Given the description of an element on the screen output the (x, y) to click on. 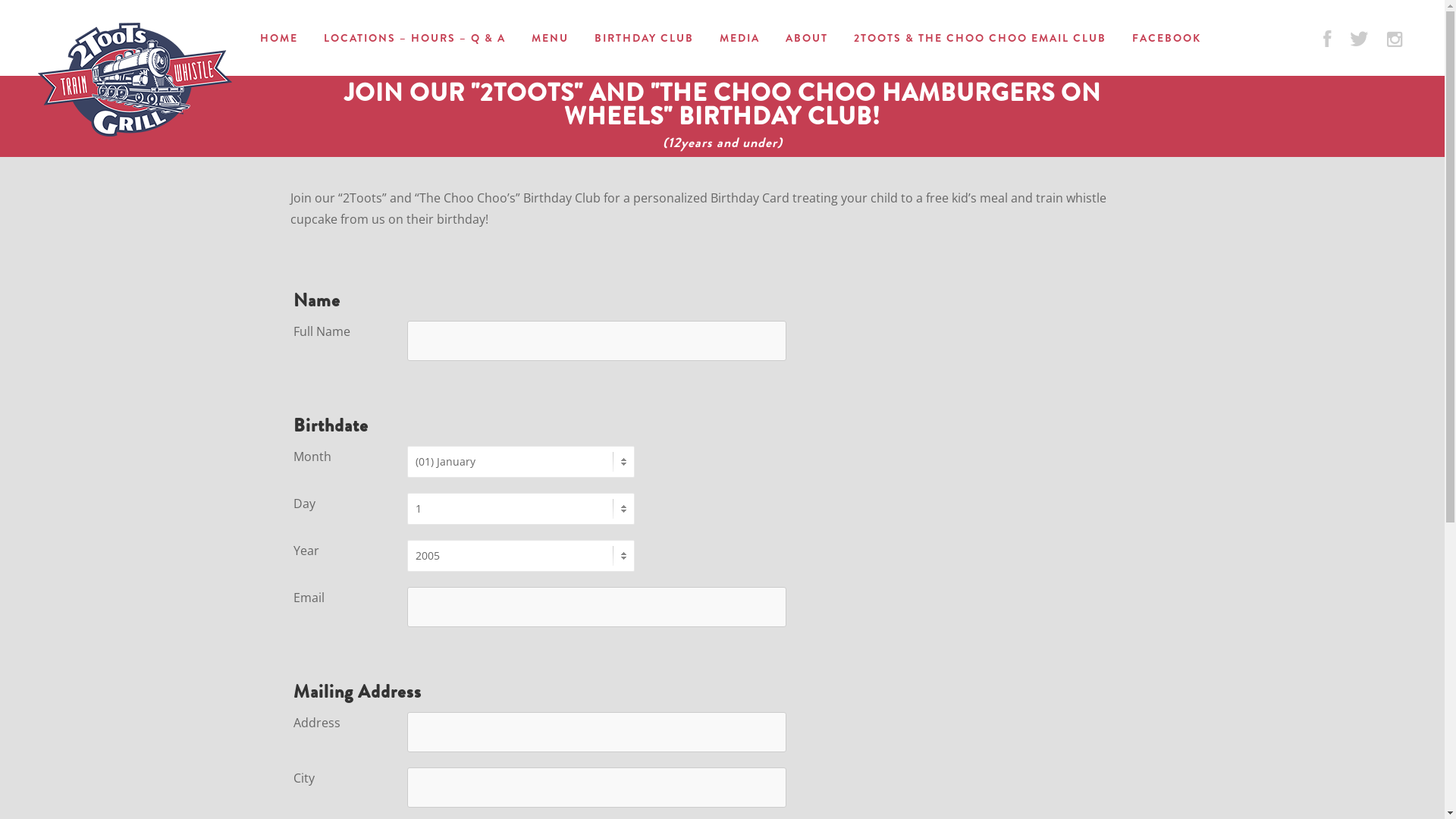
View Instagram Feed Element type: hover (1394, 41)
2Toots Train Whistle Grill Element type: hover (134, 79)
FACEBOOK Element type: text (1166, 37)
Subscribe to Twitter Feed Element type: hover (1358, 41)
Follow on Facebook Element type: hover (1326, 41)
BIRTHDAY CLUB Element type: text (643, 37)
HOME Element type: text (278, 37)
MENU Element type: text (549, 37)
2TOOTS & THE CHOO CHOO EMAIL CLUB Element type: text (979, 37)
ABOUT Element type: text (806, 37)
MEDIA Element type: text (739, 37)
